Given the description of an element on the screen output the (x, y) to click on. 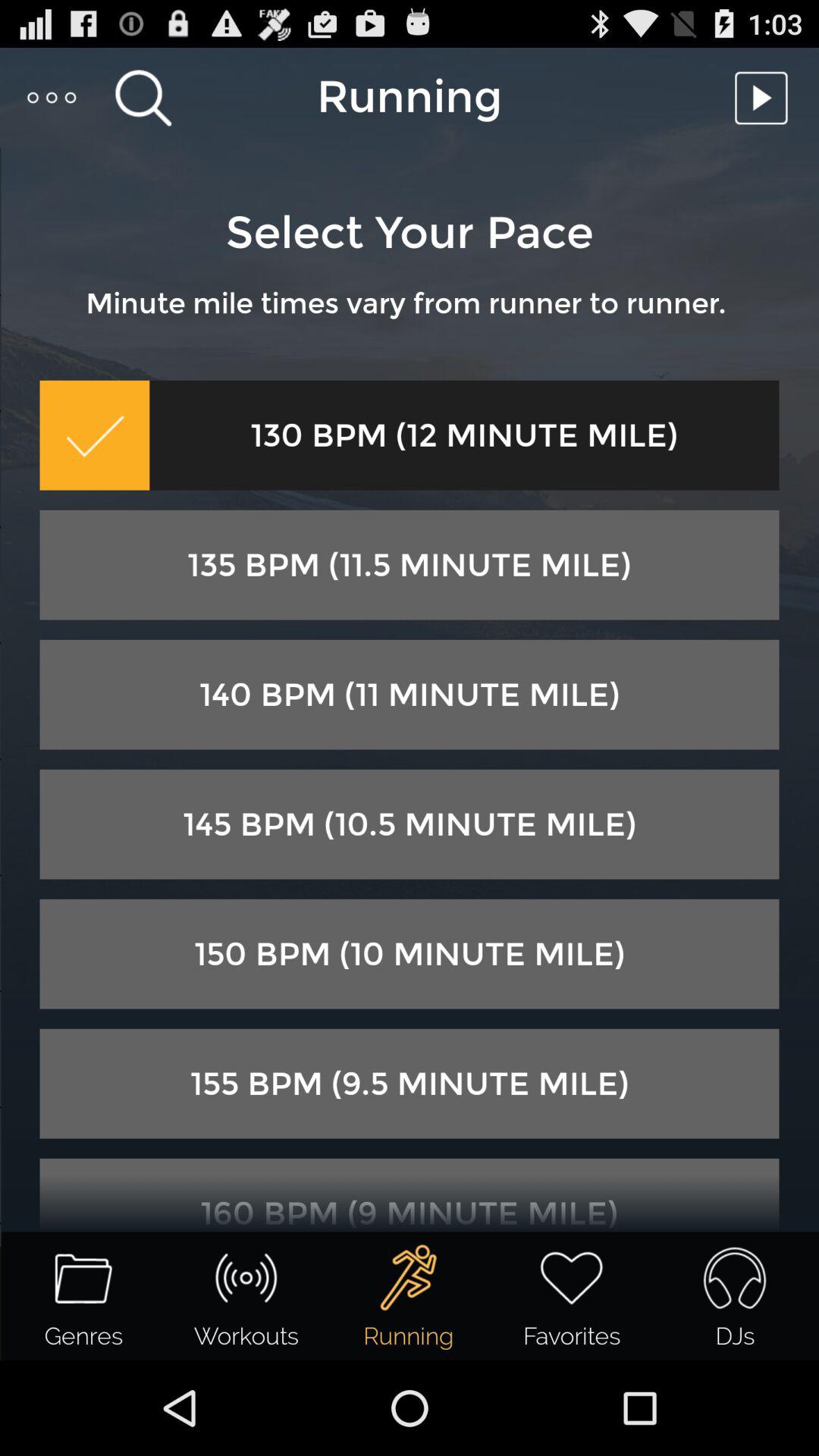
tap the icon at the top right corner (765, 97)
